Given the description of an element on the screen output the (x, y) to click on. 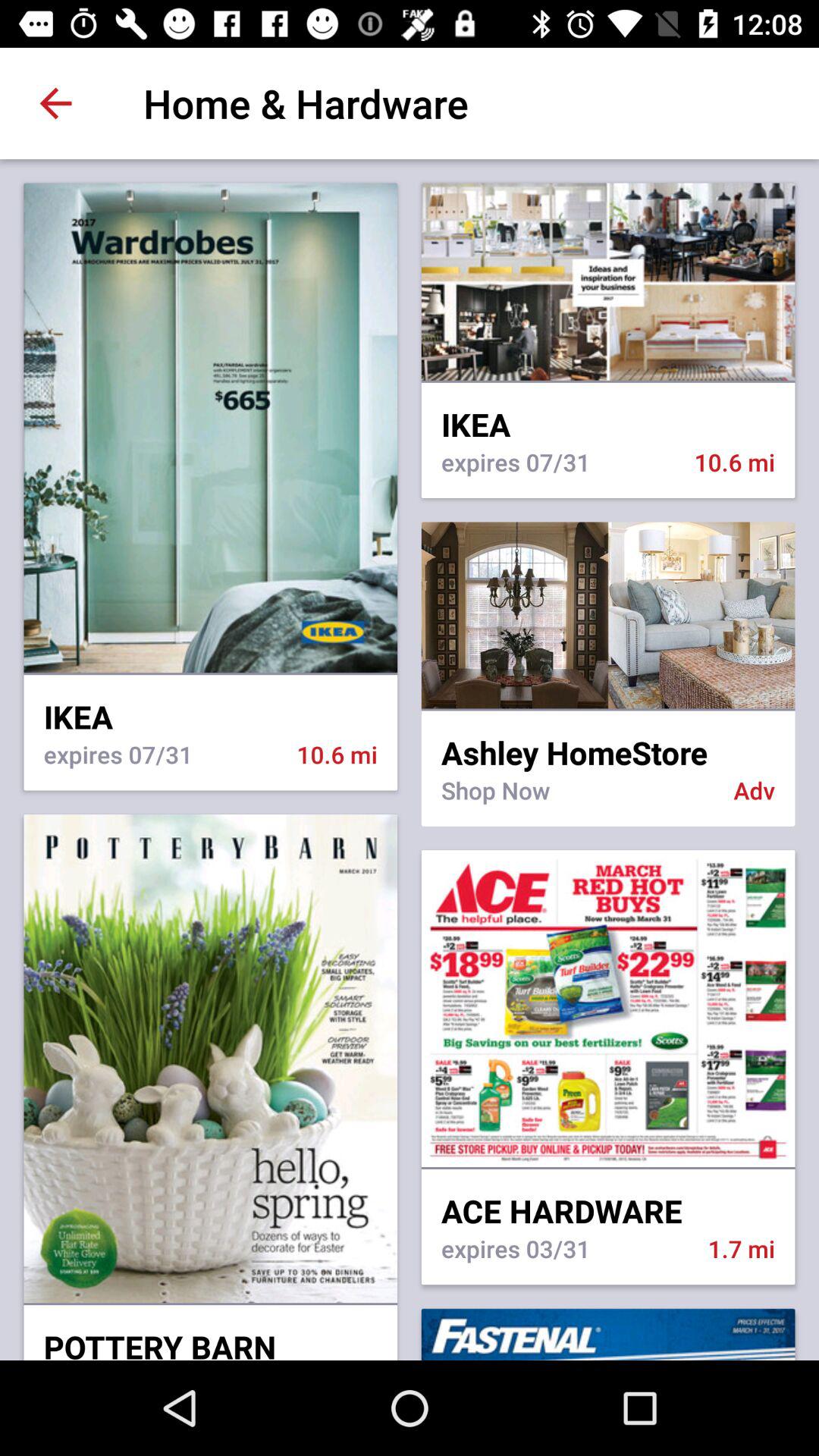
click to open advertisement (608, 615)
